Given the description of an element on the screen output the (x, y) to click on. 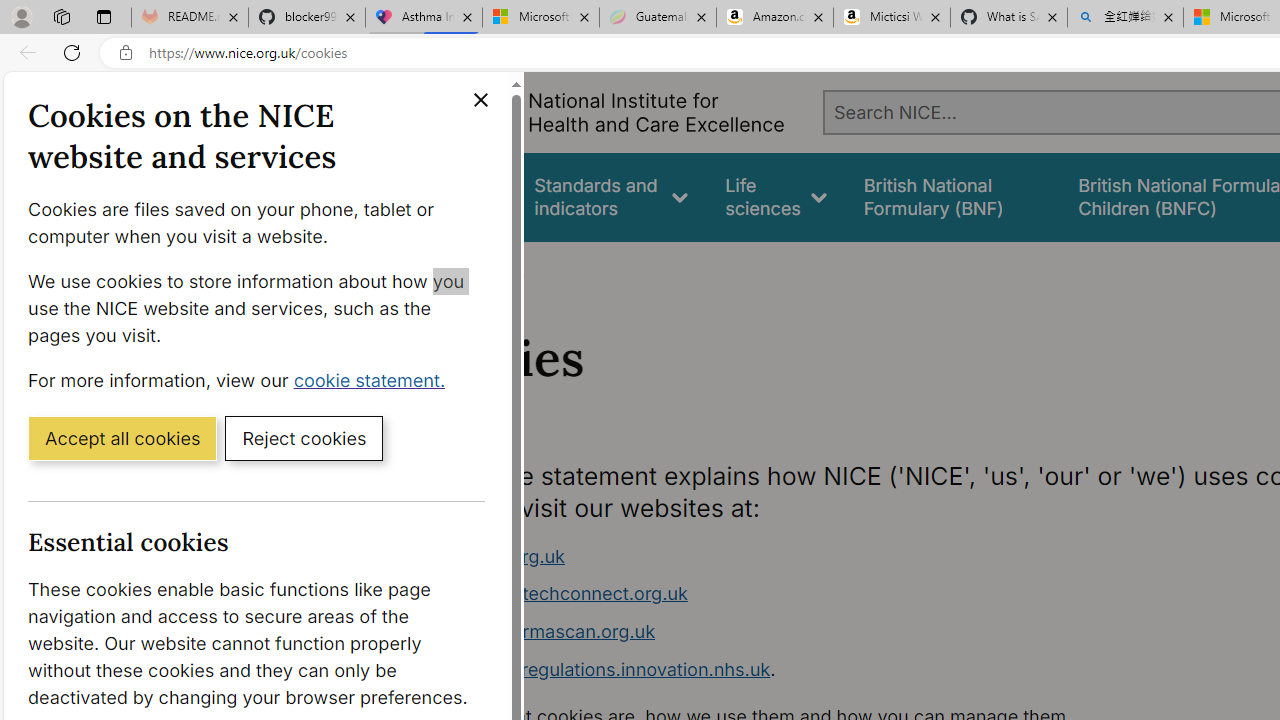
www.ukpharmascan.org.uk (538, 631)
About (498, 268)
Close cookie banner (480, 99)
About (498, 268)
Life sciences (776, 196)
